Given the description of an element on the screen output the (x, y) to click on. 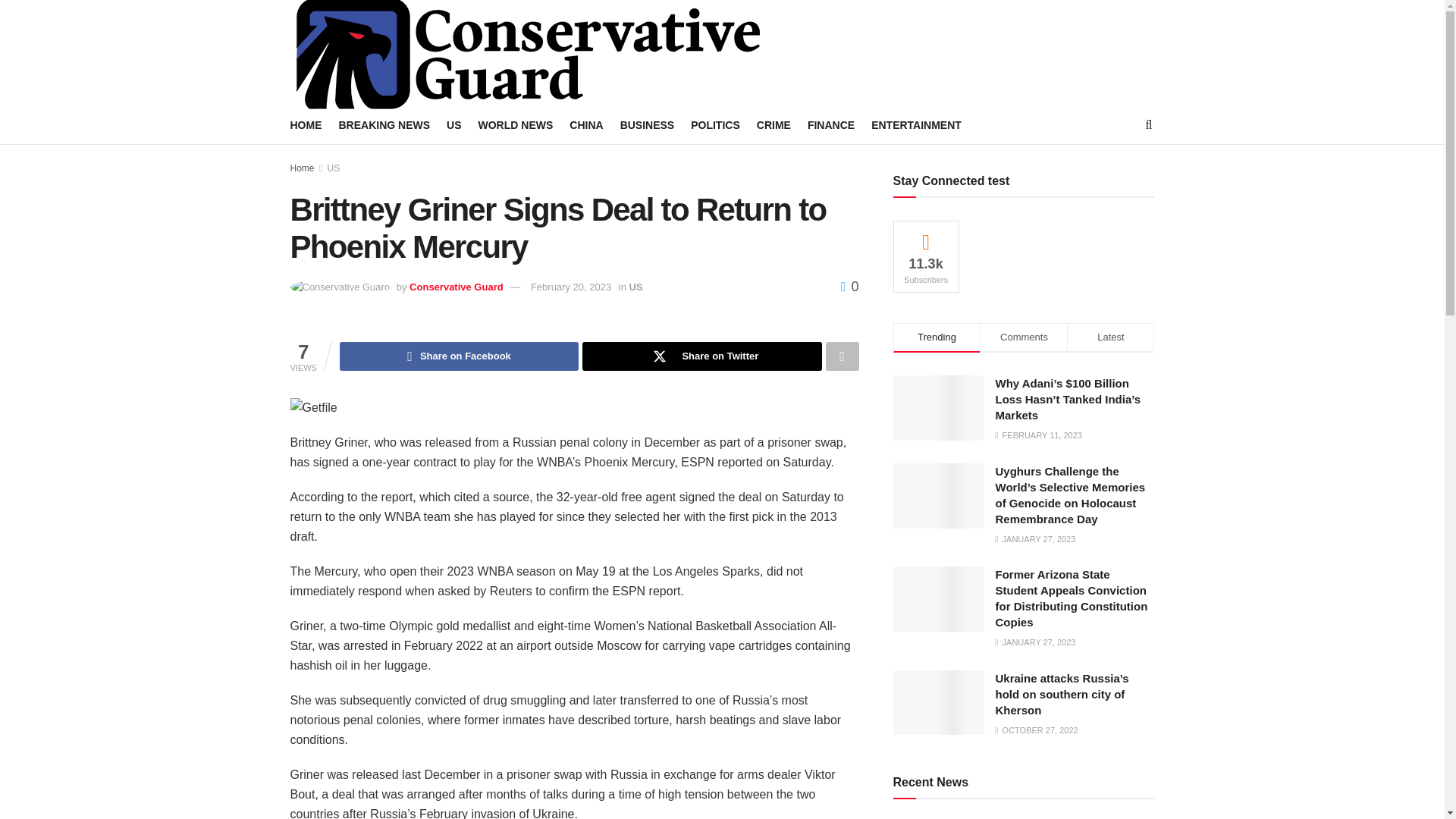
February 20, 2023 (571, 286)
POLITICS (714, 124)
HOME (305, 124)
0 (850, 286)
FINANCE (831, 124)
US (635, 286)
Brittney Griner Signs Deal to Return to Phoenix Mercury 1 (312, 407)
US (333, 167)
WORLD NEWS (516, 124)
ENTERTAINMENT (915, 124)
